Given the description of an element on the screen output the (x, y) to click on. 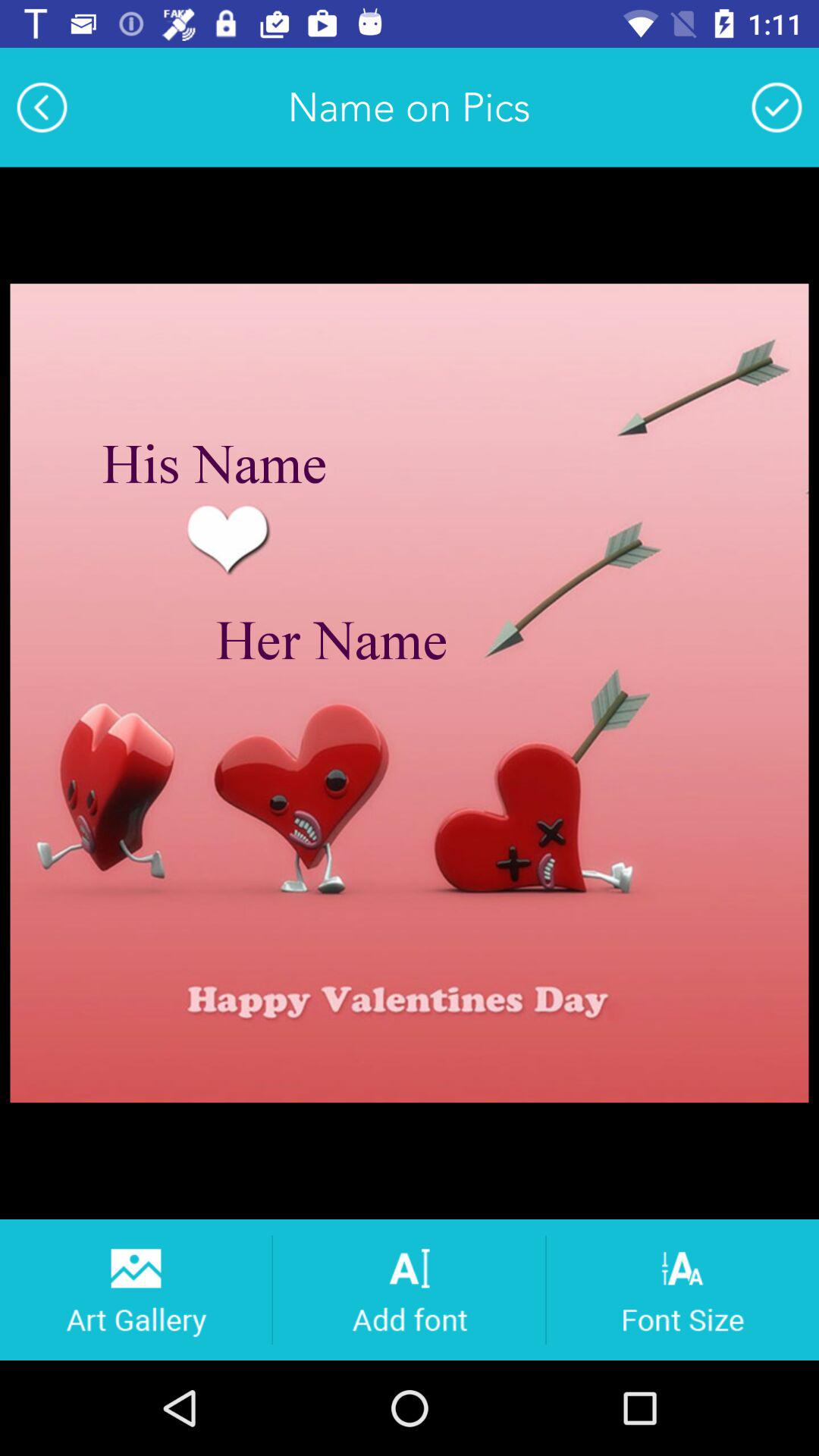
open font size menu (682, 1289)
